Given the description of an element on the screen output the (x, y) to click on. 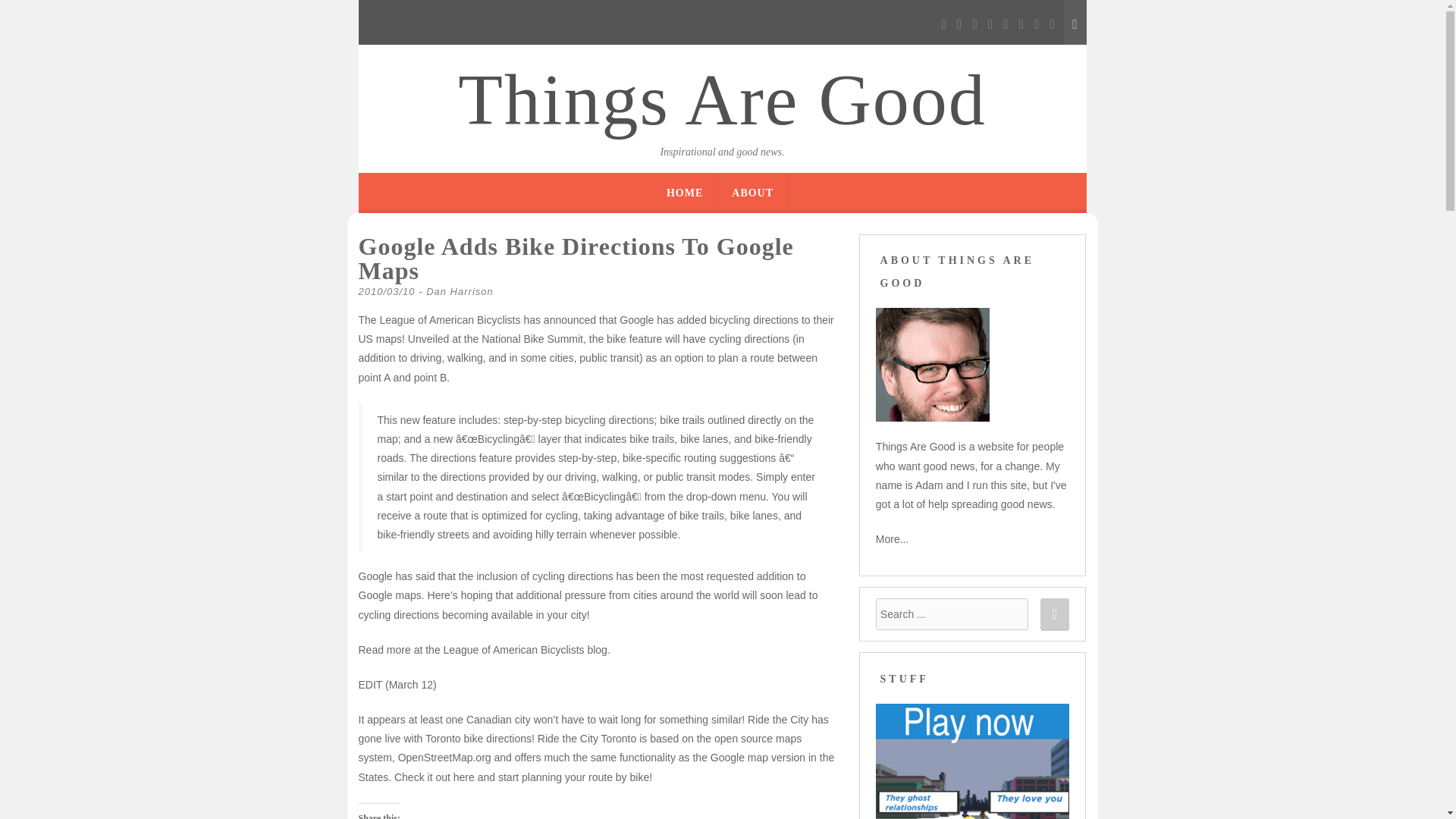
More... (892, 539)
Dan Harrison (459, 291)
HOME (684, 192)
ABOUT (752, 192)
League of American Bicyclists (514, 649)
here (463, 776)
Things Are Good (722, 99)
OpenStreetMap.org (444, 757)
